Given the description of an element on the screen output the (x, y) to click on. 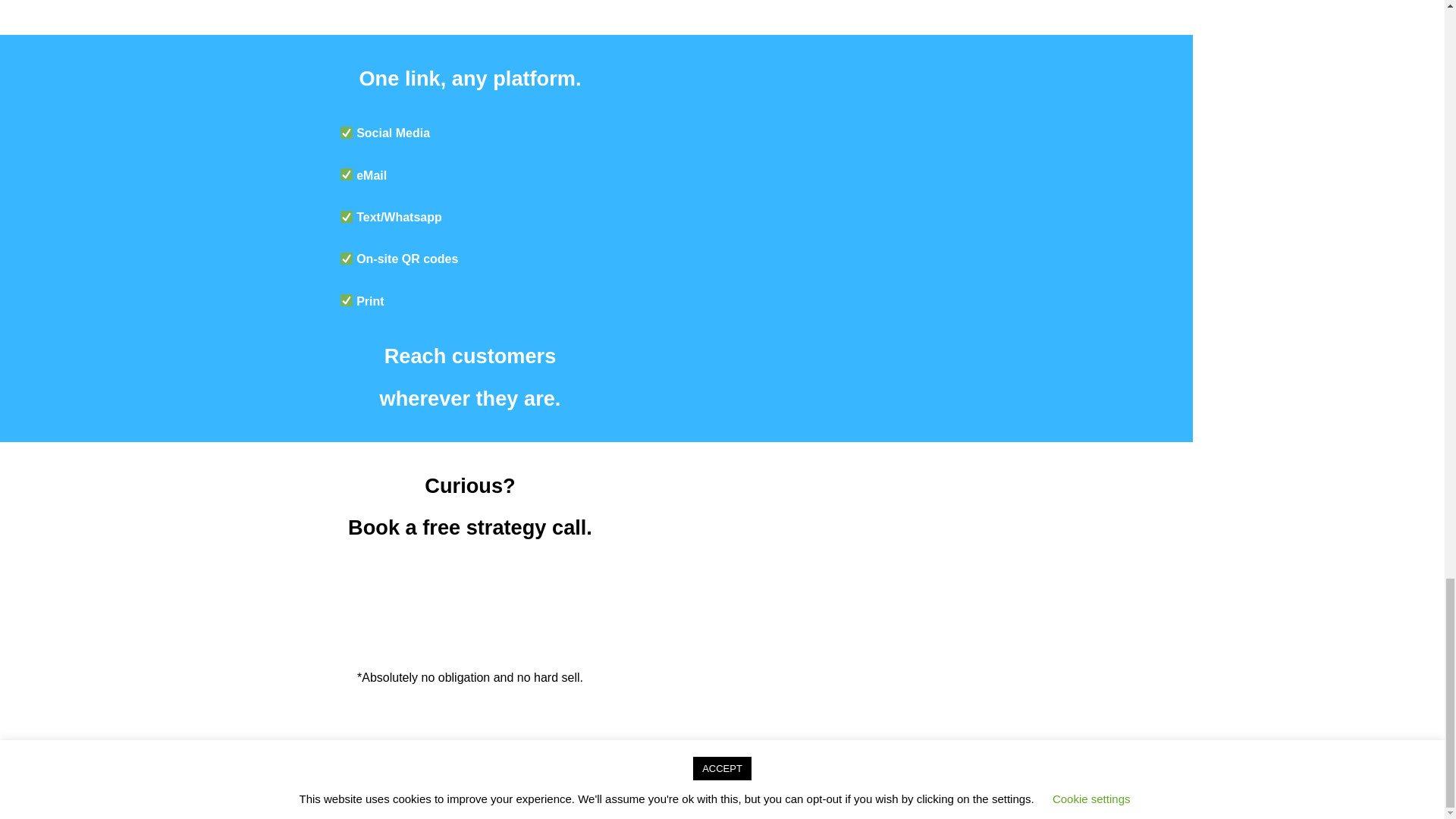
Privacy Policy (873, 775)
Hutch Media Group Ltd. (609, 775)
